Given the description of an element on the screen output the (x, y) to click on. 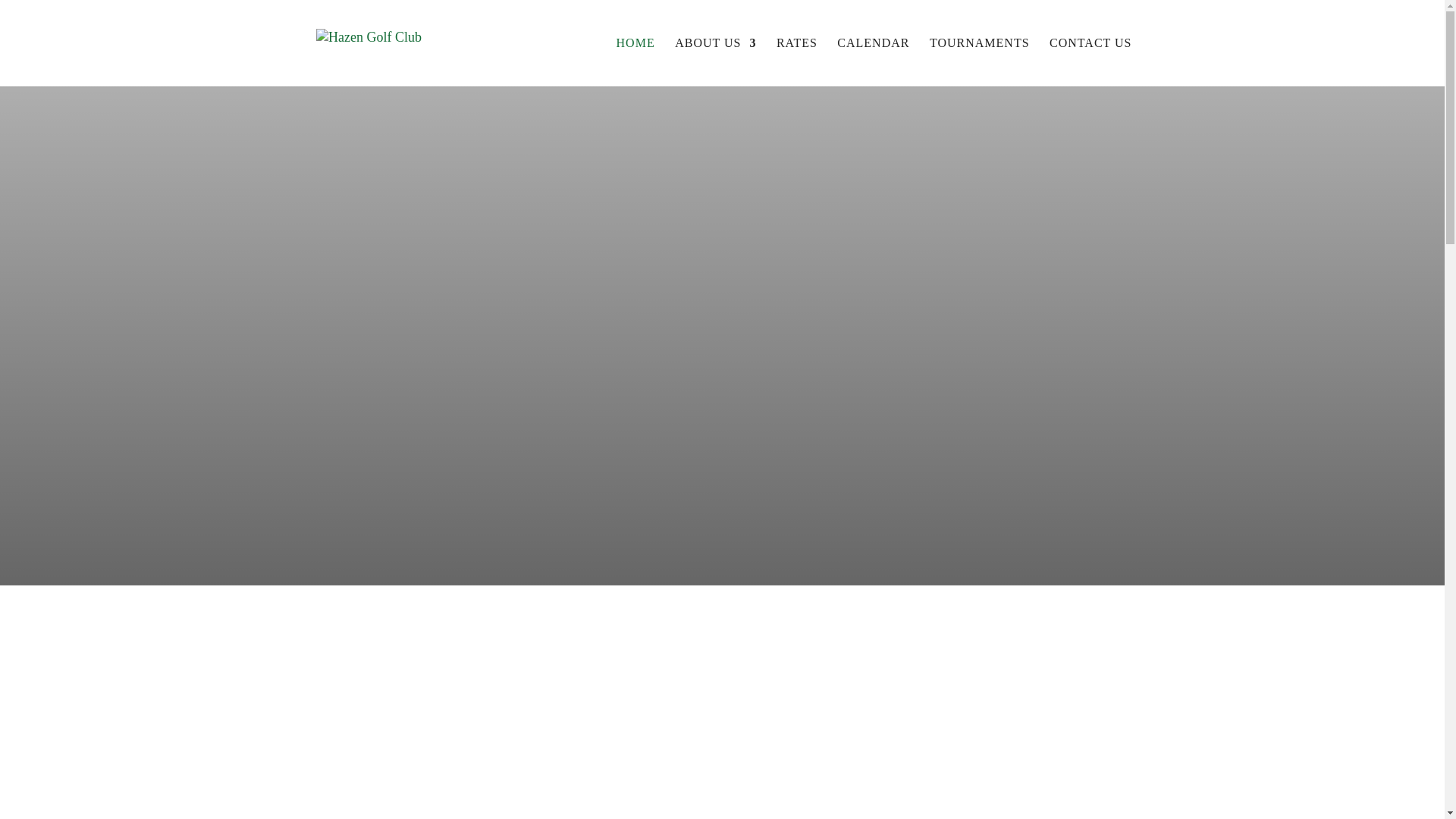
CONTACT US (1090, 61)
TOURNAMENTS (979, 61)
ABOUT US (715, 61)
CALENDAR (872, 61)
